Given the description of an element on the screen output the (x, y) to click on. 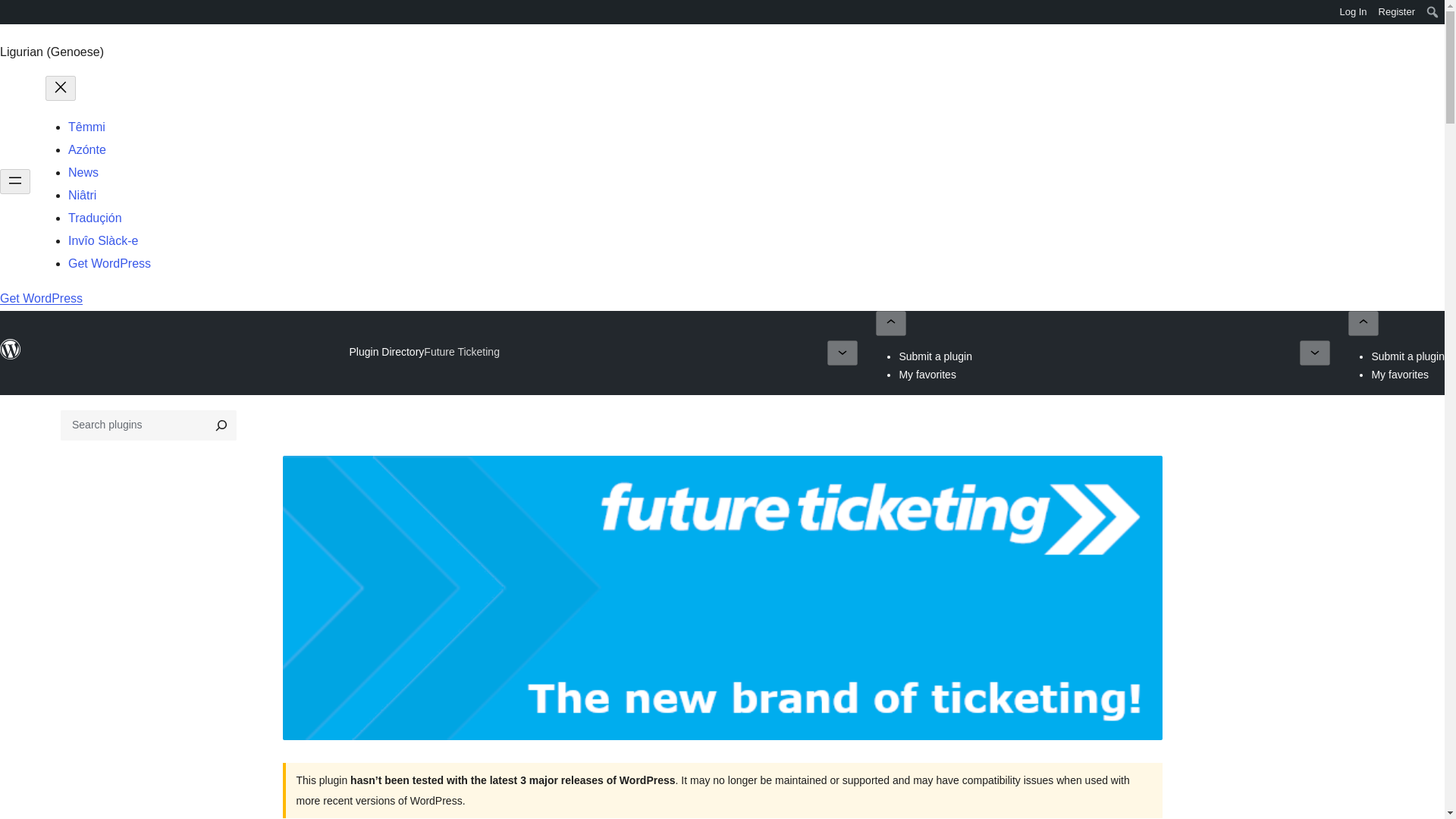
WordPress.org (10, 16)
WordPress.org (10, 349)
Log In (1353, 12)
Get WordPress (109, 263)
Get WordPress (41, 297)
My favorites (926, 374)
Submit a plugin (935, 356)
My favorites (1399, 374)
Register (1397, 12)
Plugin Directory (386, 351)
